Given the description of an element on the screen output the (x, y) to click on. 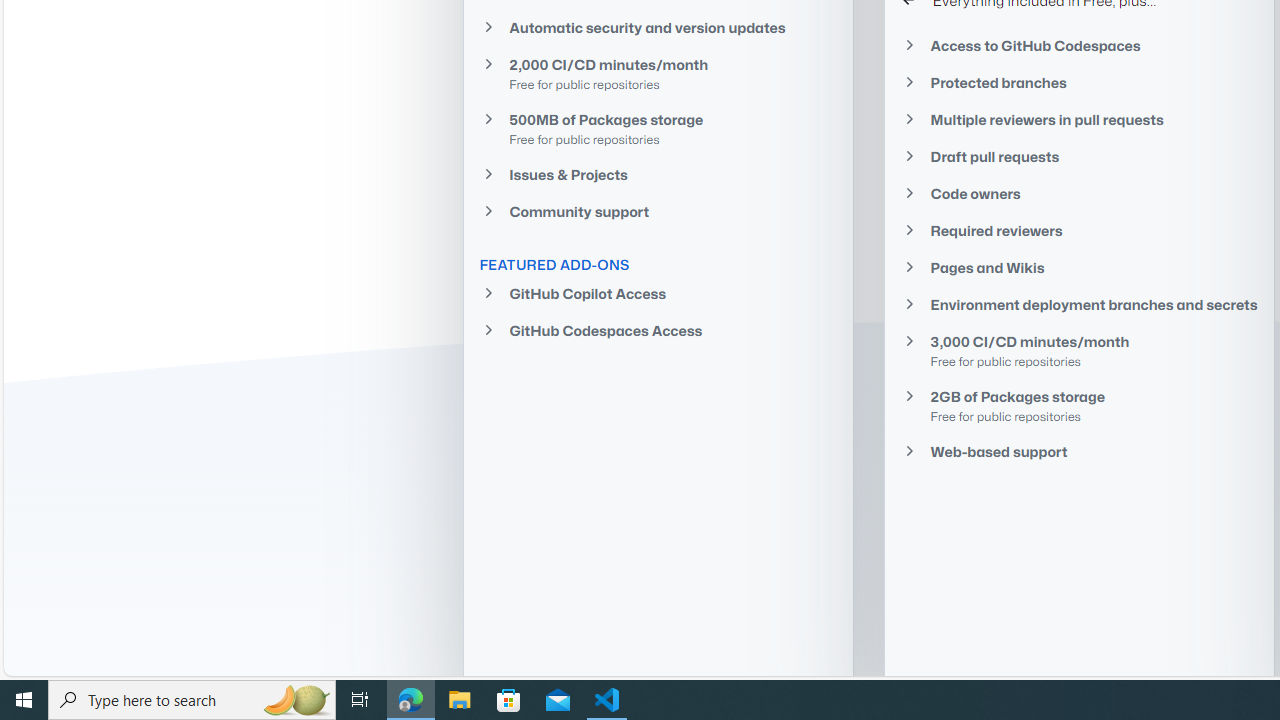
Protected branches (1079, 83)
Required reviewers (1079, 230)
Pages and Wikis (1079, 268)
Community support (657, 211)
Issues & Projects (657, 174)
Required reviewers (1079, 229)
GitHub Codespaces Access (657, 330)
Environment deployment branches and secrets (1079, 304)
Code owners (1079, 193)
2,000 CI/CD minutes/month Free for public repositories (657, 74)
GitHub Copilot Access (657, 293)
Automatic security and version updates (657, 26)
500MB of Packages storageFree for public repositories (657, 128)
3,000 CI/CD minutes/monthFree for public repositories (1079, 349)
Environment deployment branches and secrets (1079, 304)
